Given the description of an element on the screen output the (x, y) to click on. 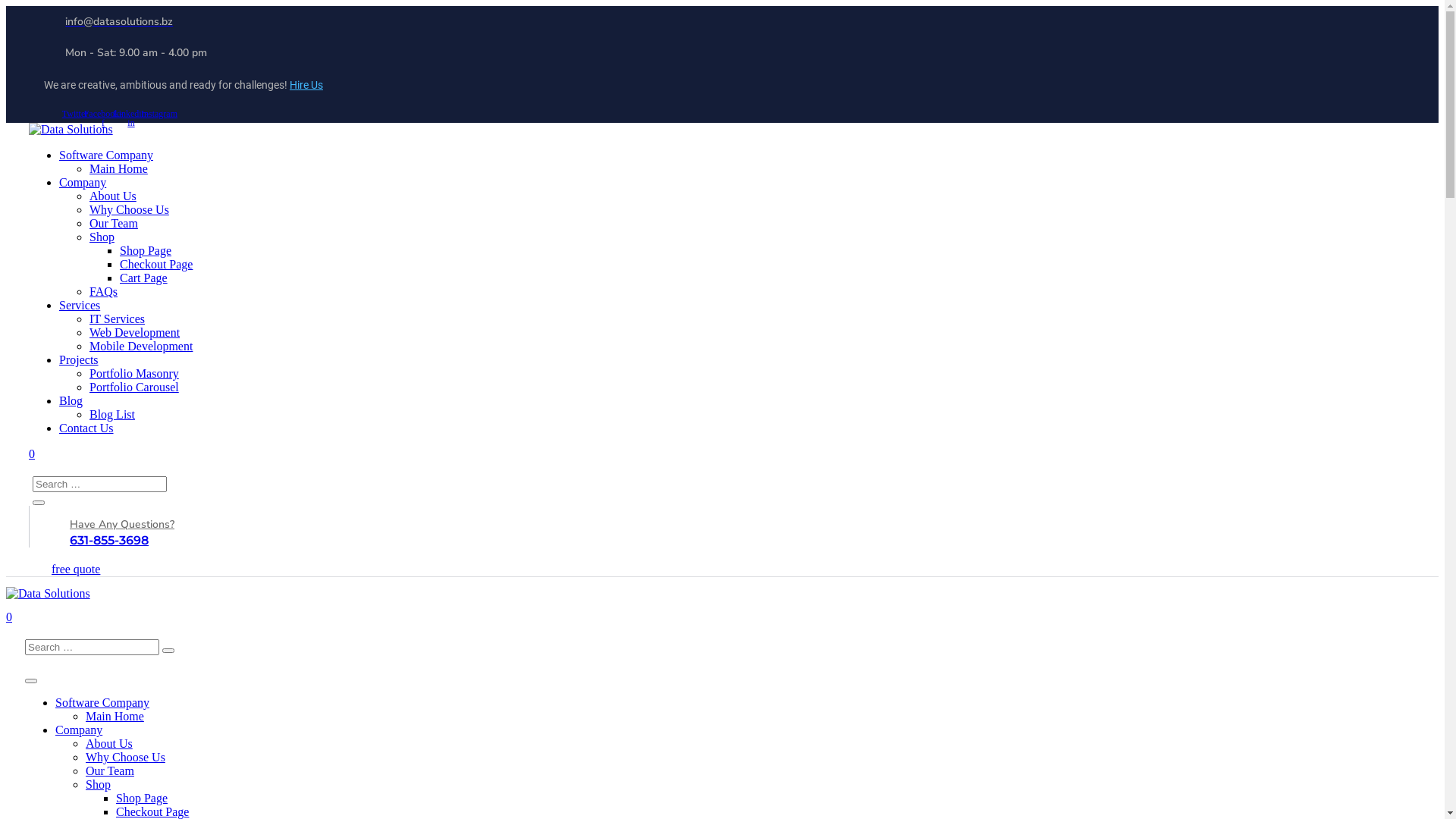
Software Company Element type: text (106, 154)
Shop Page Element type: text (141, 797)
Checkout Page Element type: text (152, 811)
Software Company Element type: text (102, 702)
0 Element type: text (31, 453)
Cart Page Element type: text (143, 277)
Twitter Element type: text (74, 113)
Shop Page Element type: text (145, 250)
info@datasolutions.bz Element type: text (308, 21)
Hire Us Element type: text (306, 84)
Our Team Element type: text (109, 770)
About Us Element type: text (112, 195)
Have Any Questions? Element type: text (121, 524)
Blog Element type: text (70, 400)
Our Team Element type: text (113, 222)
Company Element type: text (82, 181)
Main Home Element type: text (114, 715)
FAQs Element type: text (103, 291)
Why Choose Us Element type: text (129, 209)
Blog List Element type: text (111, 413)
Shop Element type: text (97, 784)
Linkedin-in Element type: text (130, 117)
Shop Element type: text (101, 236)
631-855-3698 Element type: text (108, 540)
Company Element type: text (78, 729)
Portfolio Carousel Element type: text (133, 386)
Mobile Development Element type: text (140, 345)
Contact Us Element type: text (86, 427)
Why Choose Us Element type: text (125, 756)
Services Element type: text (79, 304)
Web Development Element type: text (134, 332)
0 Element type: text (9, 616)
About Us Element type: text (108, 743)
Main Home Element type: text (118, 168)
Checkout Page Element type: text (155, 263)
IT Services Element type: text (116, 318)
Facebook-f Element type: text (102, 117)
Projects Element type: text (78, 359)
Portfolio Masonry Element type: text (133, 373)
Instagram Element type: text (158, 113)
free quote Element type: text (75, 568)
